Given the description of an element on the screen output the (x, y) to click on. 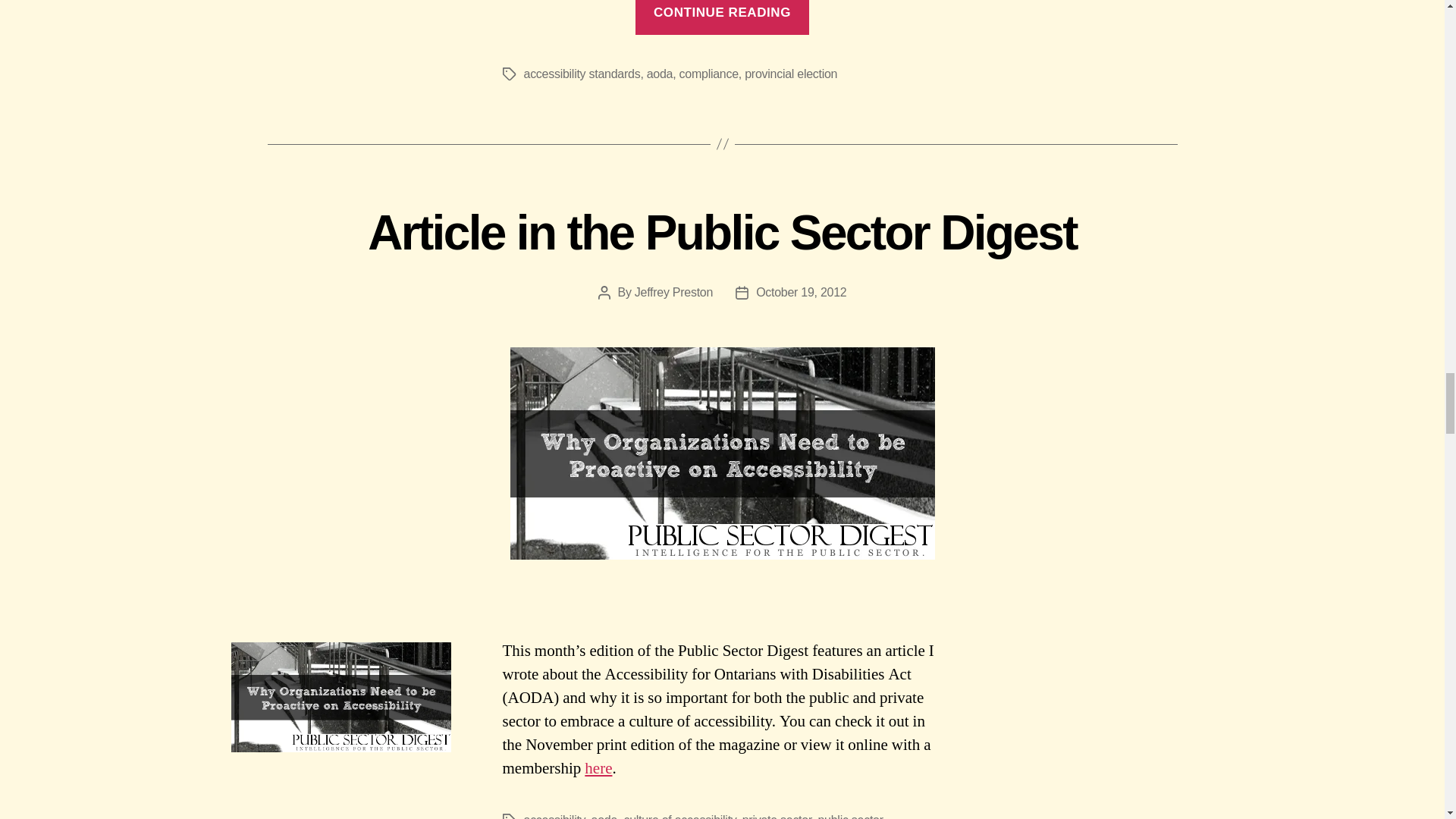
Public Sector Digest (598, 768)
